Given the description of an element on the screen output the (x, y) to click on. 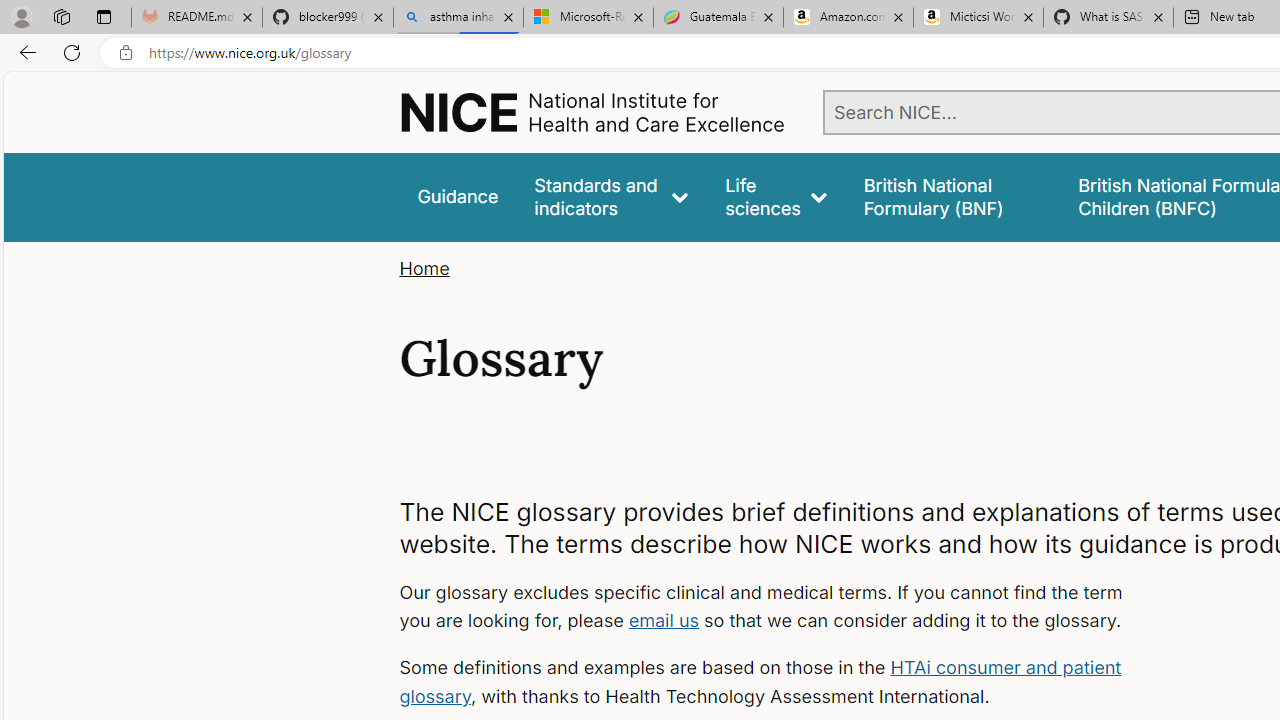
HTAi consumer and patient glossary (760, 681)
email us (664, 620)
